Given the description of an element on the screen output the (x, y) to click on. 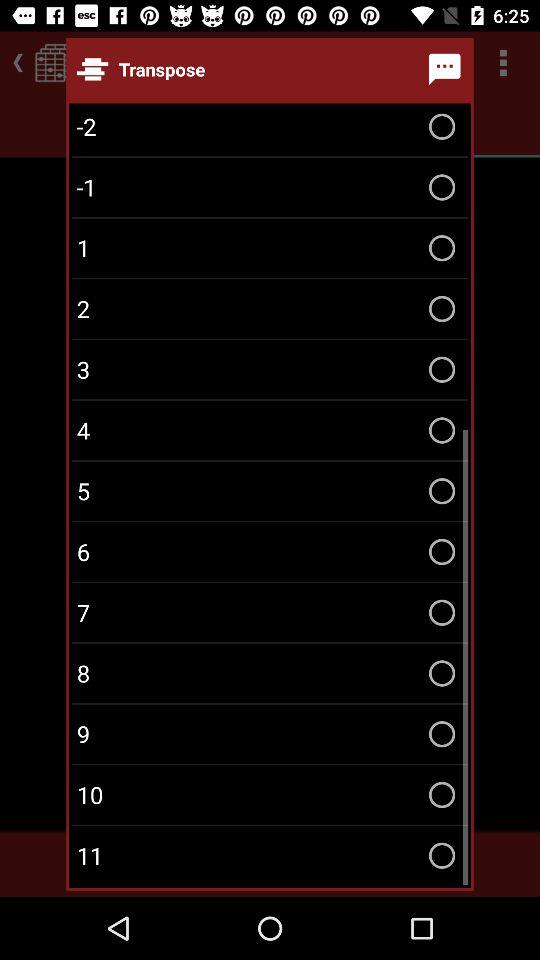
tap item above 6 (269, 490)
